Given the description of an element on the screen output the (x, y) to click on. 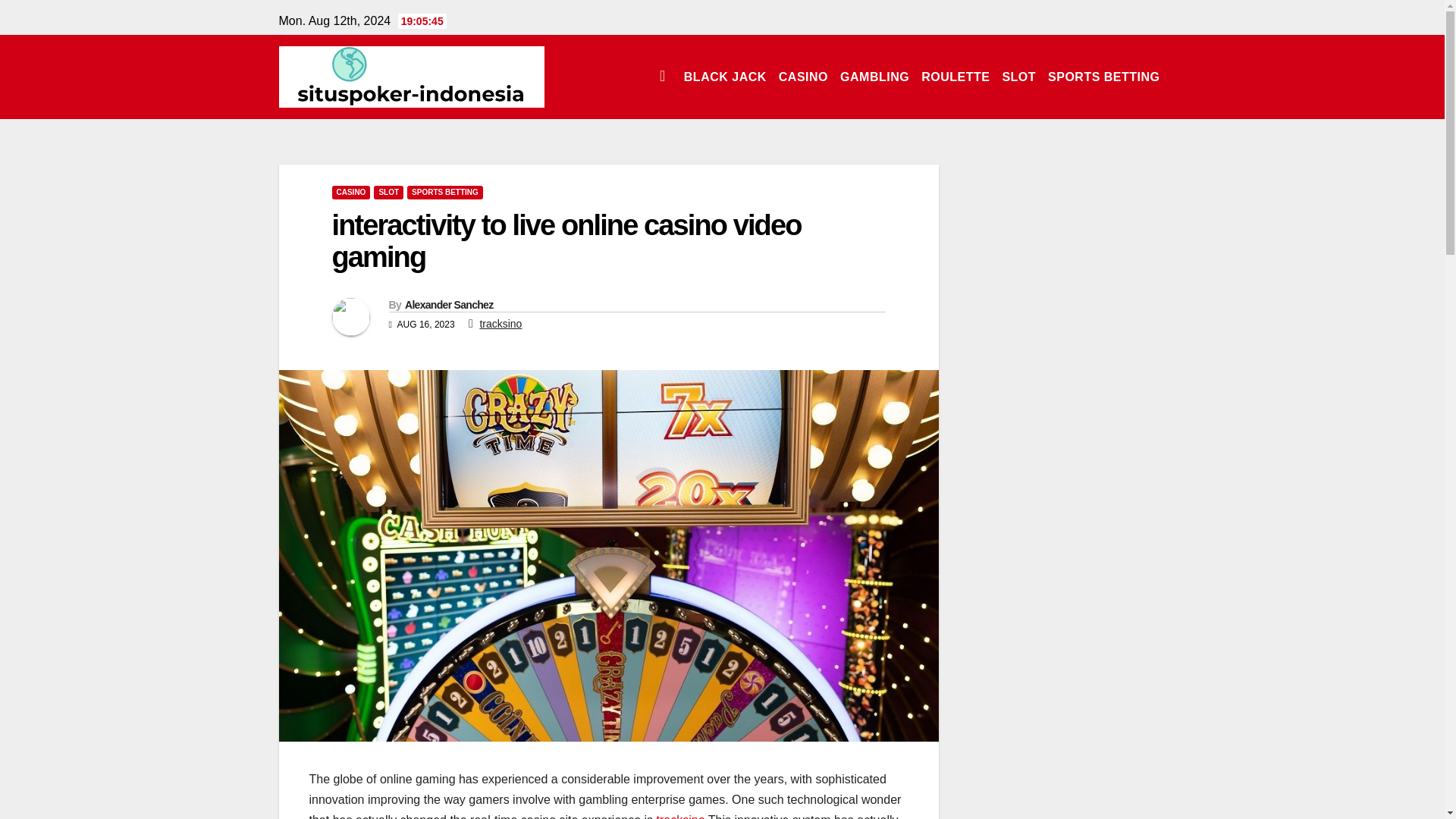
BLACK JACK (725, 76)
SPORTS BETTING (1104, 76)
GAMBLING (874, 76)
ROULETTE (955, 76)
tracksino (680, 816)
CASINO (803, 76)
SLOT (388, 192)
SPORTS BETTING (1104, 76)
BLACK JACK (725, 76)
